Given the description of an element on the screen output the (x, y) to click on. 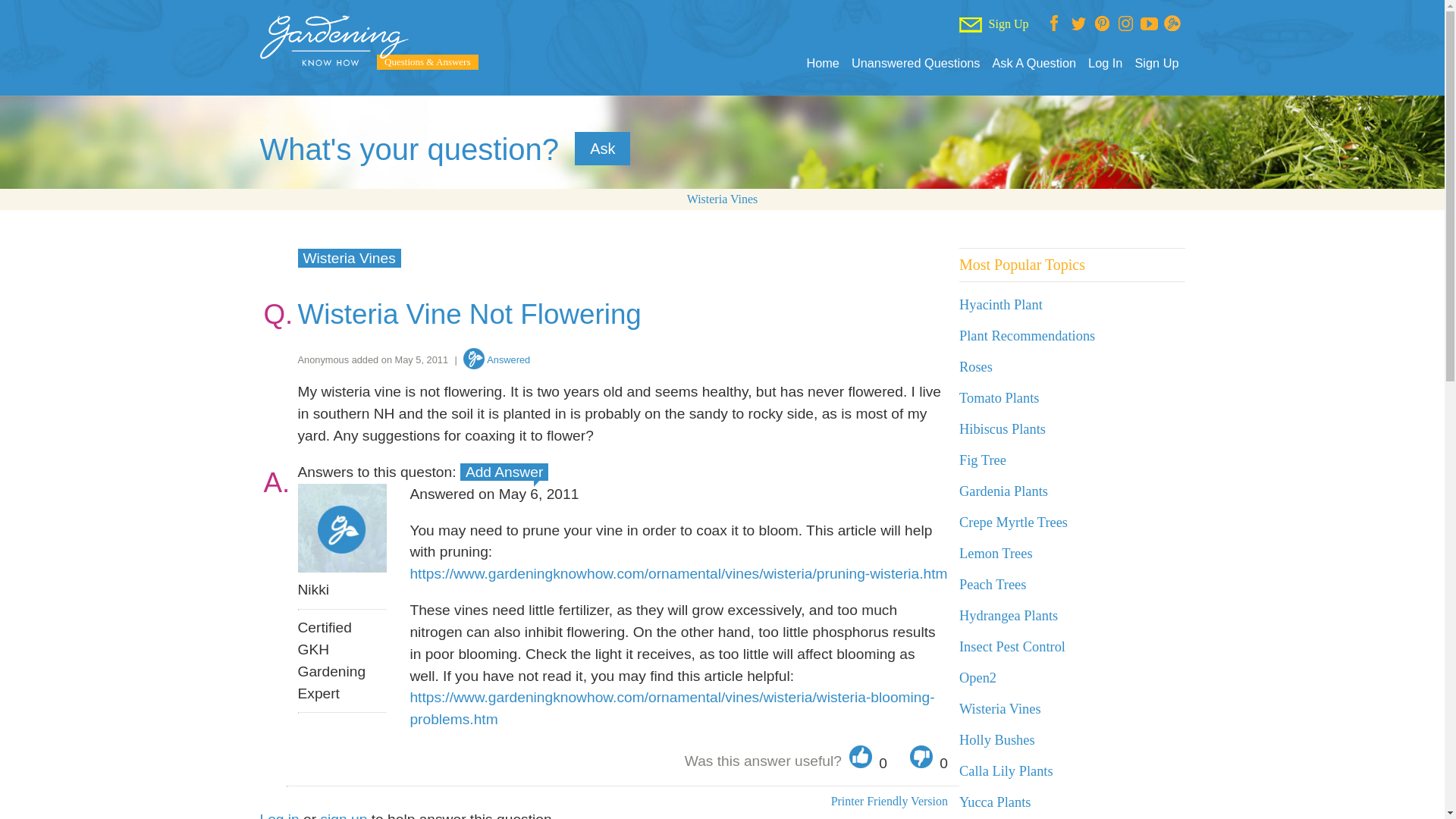
Unanswered Questions (916, 62)
Plant Recommendations (1026, 335)
Plant Recommendations (1026, 335)
Gardenia Plants (1003, 491)
Hydrangea Plants (1008, 615)
Log In (1104, 62)
Lemon Trees (995, 553)
Ask A Question (1033, 62)
Add Answer (504, 471)
Fig Tree (982, 459)
Insect Pest Control (1012, 646)
Tomato Plants (999, 397)
Crepe Myrtle Trees (1013, 522)
Answered (496, 359)
Open2 (977, 677)
